Given the description of an element on the screen output the (x, y) to click on. 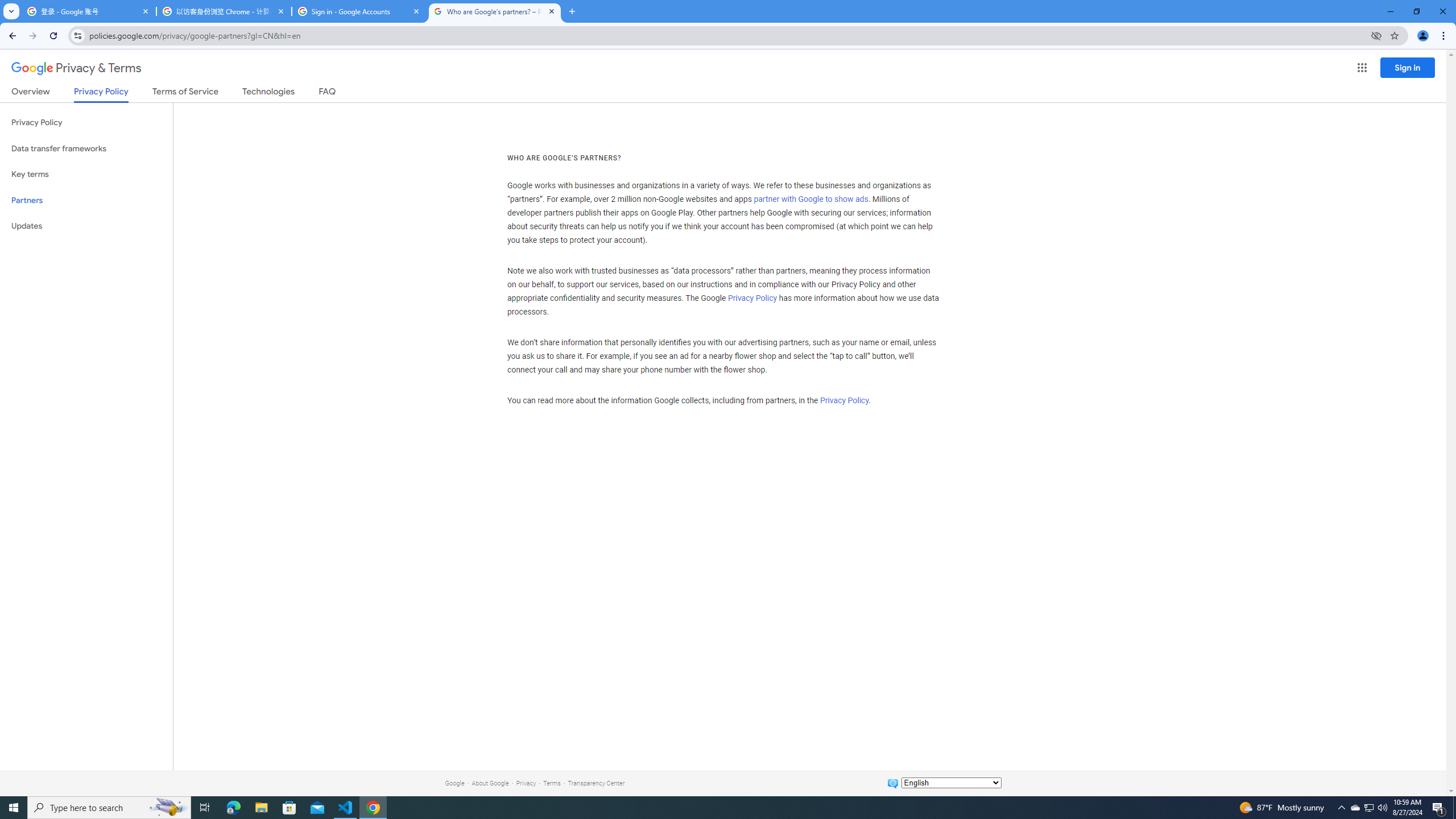
Change language: (951, 782)
